Given the description of an element on the screen output the (x, y) to click on. 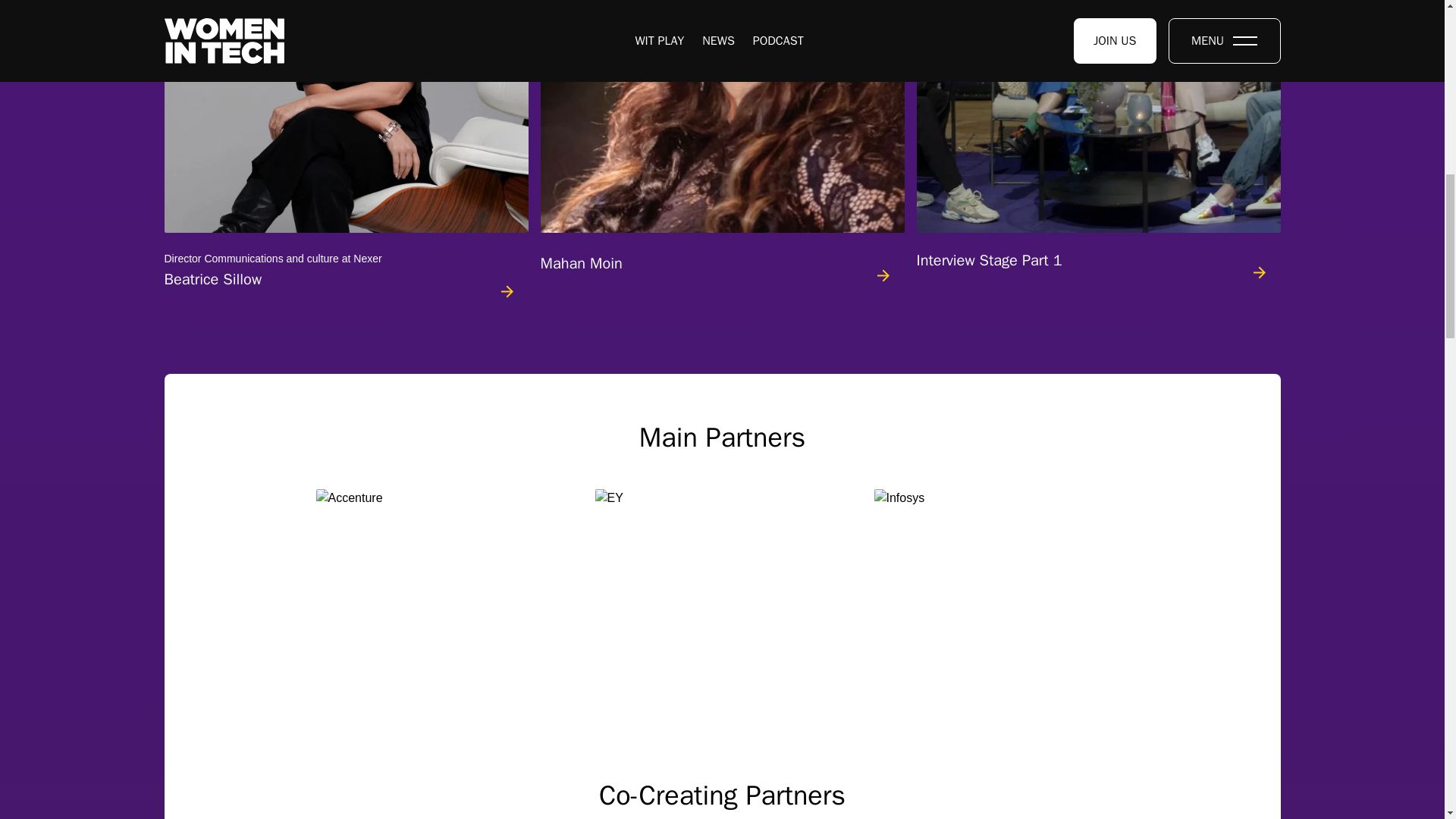
Mahan Moin (722, 150)
Interview Stage Part 1 (345, 150)
